Given the description of an element on the screen output the (x, y) to click on. 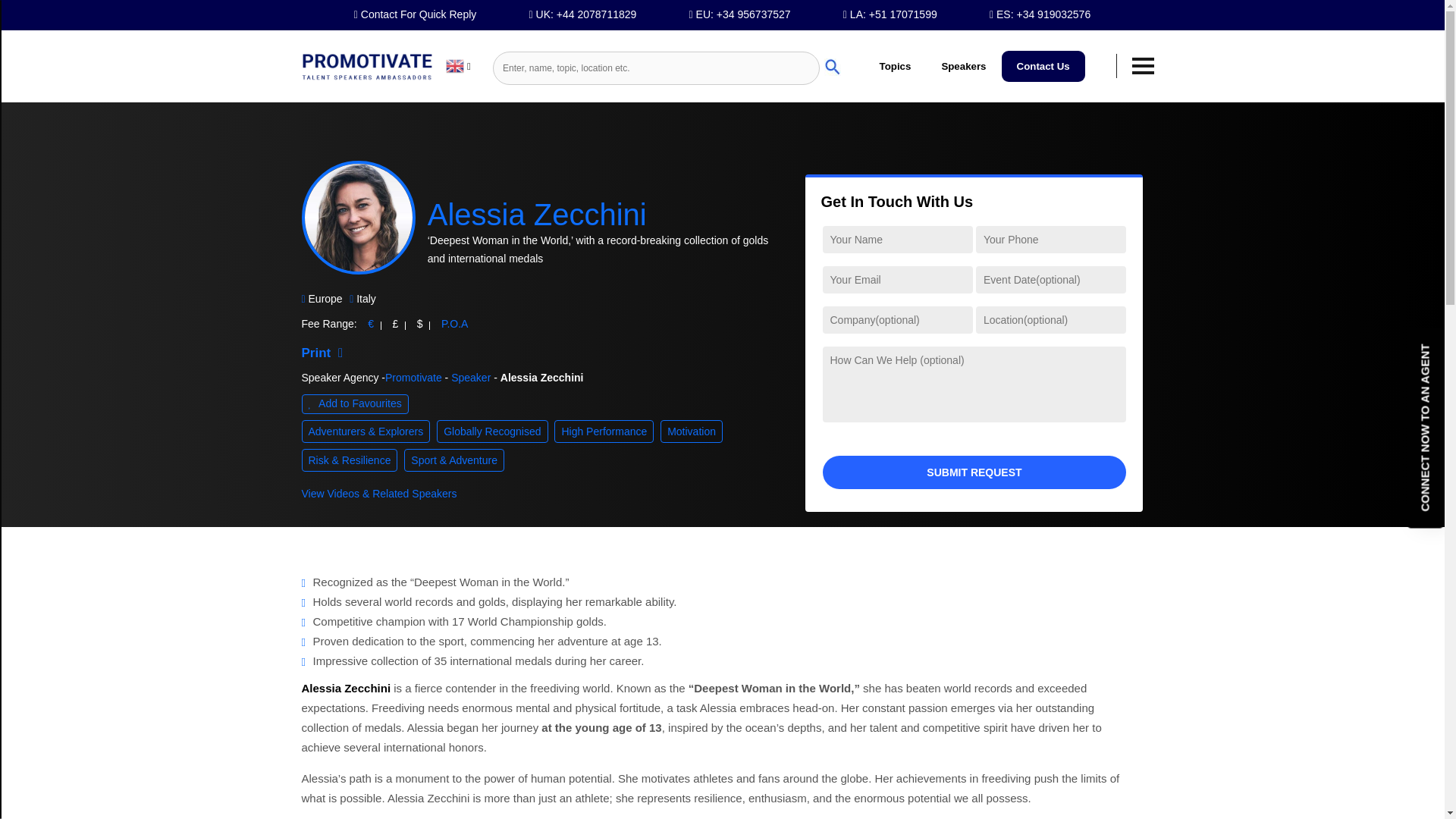
Privacy Policy (84, 213)
Speakers (963, 65)
My Favourites (84, 329)
Submit Request (973, 471)
Topics (895, 65)
Speakers By Name (84, 97)
Speakers By Topic (84, 58)
About (84, 174)
Speakers by Smart Search (84, 19)
Join Promotivate (84, 290)
Contact For Quick Reply (415, 14)
News (84, 251)
Contact Us (1042, 65)
Speakers By Locations (84, 136)
